Given the description of an element on the screen output the (x, y) to click on. 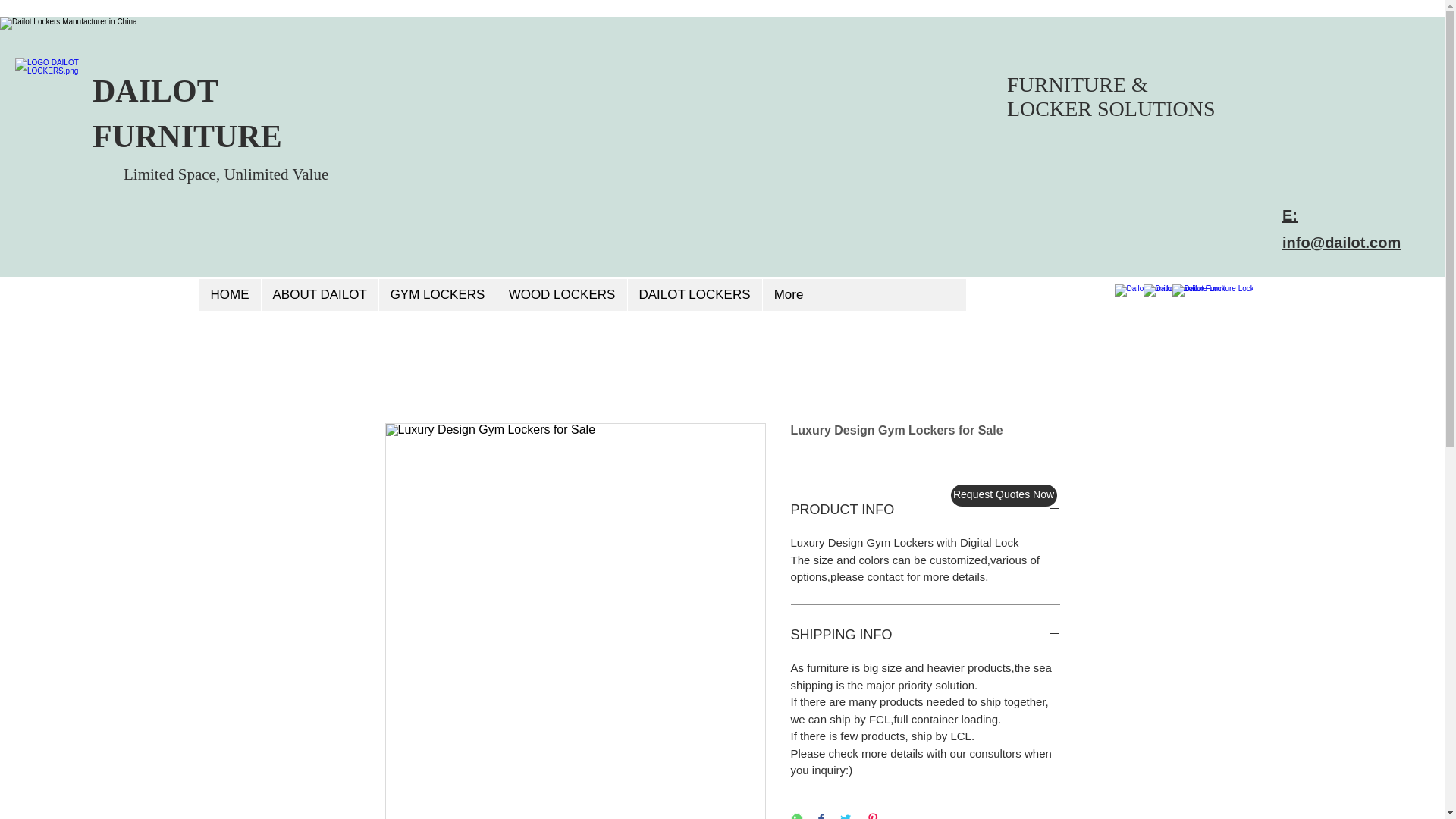
PRODUCT INFO (924, 509)
ABOUT DAILOT (319, 295)
GYM LOCKERS (436, 295)
HOME (229, 295)
DAILOT LOCKERS (693, 295)
WOOD LOCKERS (561, 295)
DAILOT FURNITURE (187, 113)
SHIPPING INFO (924, 635)
